Given the description of an element on the screen output the (x, y) to click on. 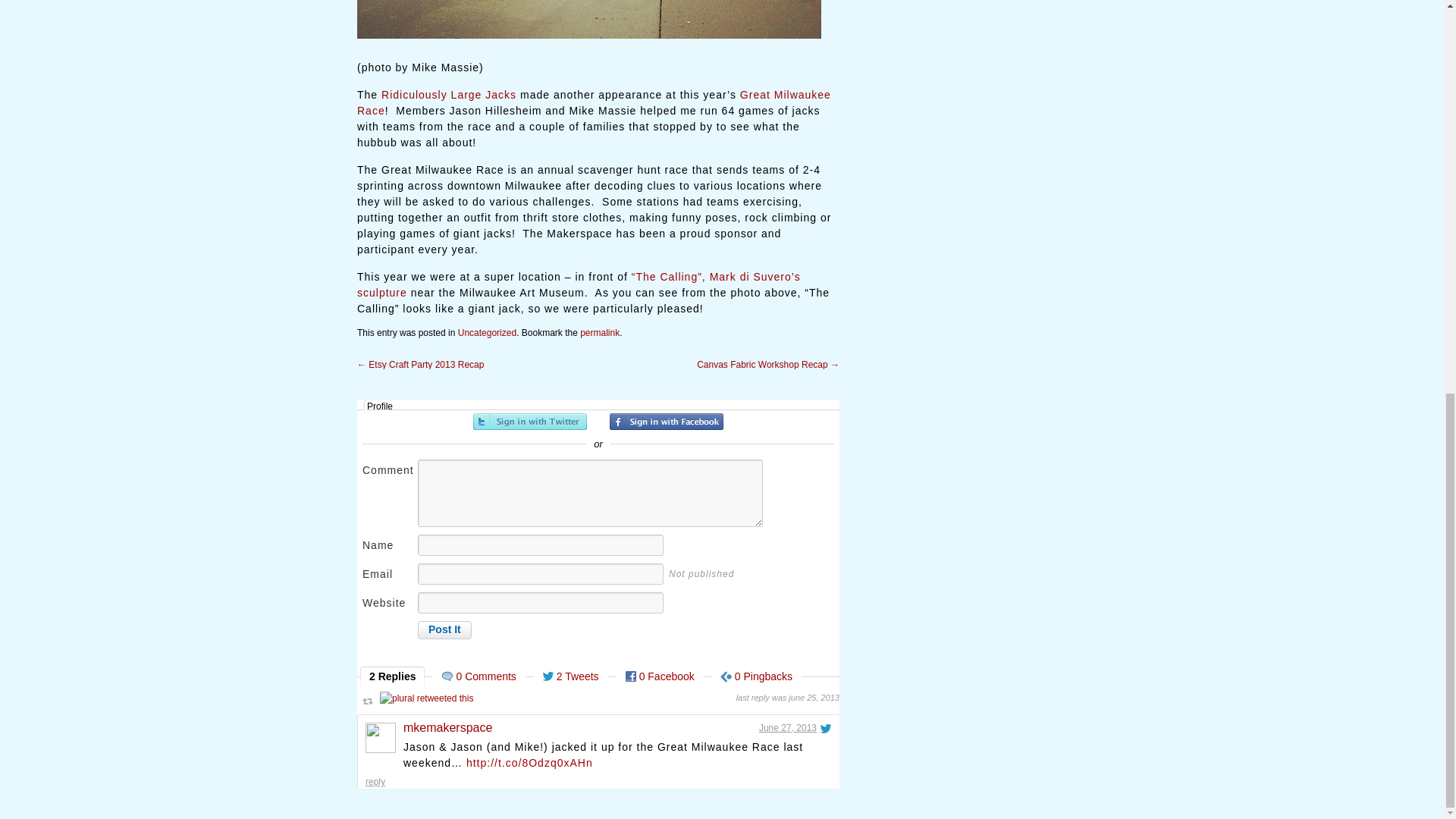
Sign in with Twitter (529, 421)
permalink (599, 332)
Ridiculously Large Jacks (448, 94)
0 Comments (478, 676)
2 Tweets (570, 676)
plural retweeted this (426, 698)
Permalink to The Return of the Ridiculously Large Jacks! (599, 332)
Uncategorized (487, 332)
Sign in with Facebook (666, 421)
Great Milwaukee Race (593, 102)
